Given the description of an element on the screen output the (x, y) to click on. 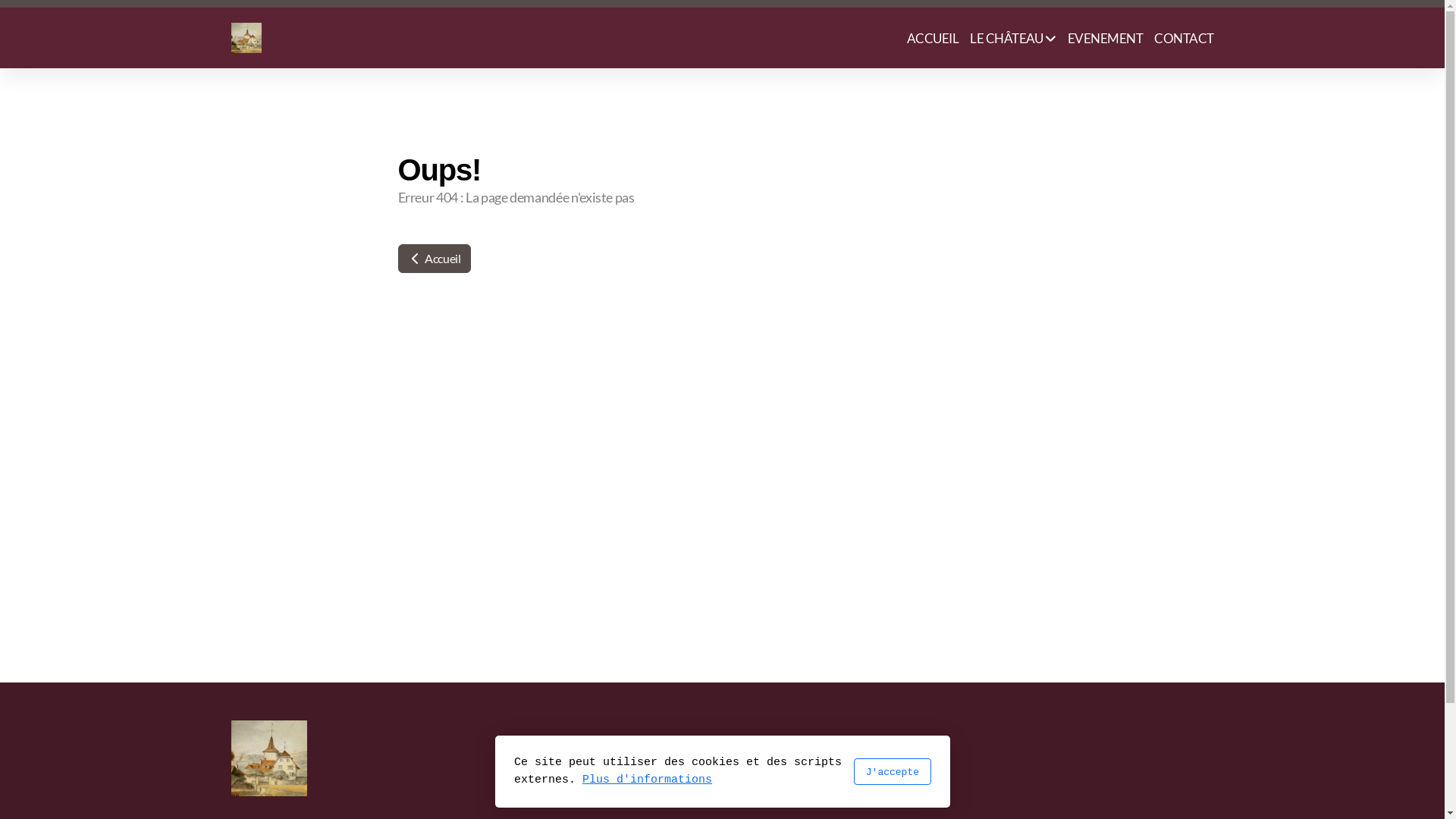
Accueil Element type: text (433, 258)
ACCUEIL Element type: text (932, 37)
J'accepte Element type: text (891, 771)
CONTACT Element type: text (1183, 37)
EVENEMENT Element type: text (1104, 37)
Plus d'informations Element type: text (647, 779)
